Given the description of an element on the screen output the (x, y) to click on. 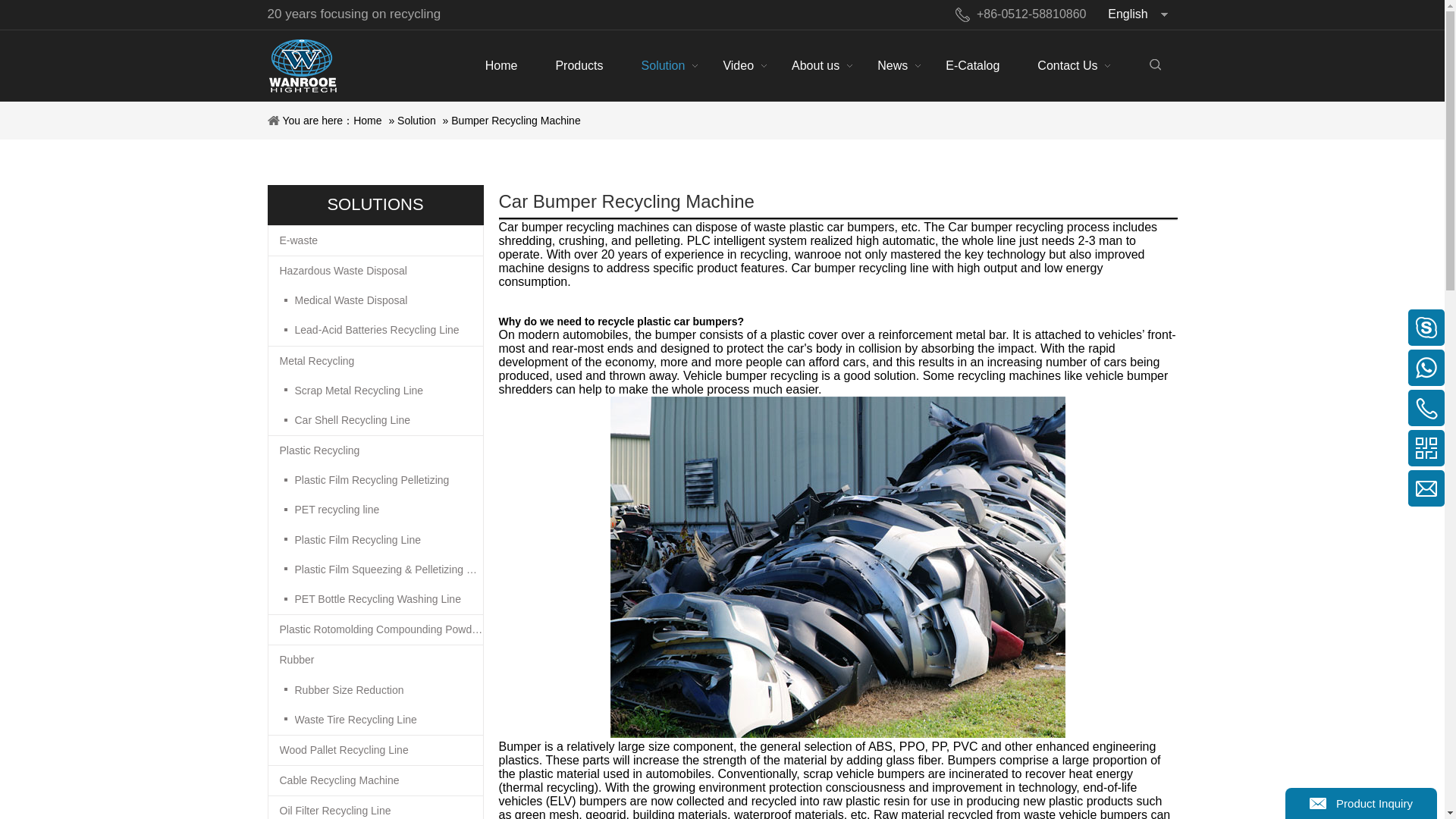
Products (578, 65)
English (1138, 14)
Home (501, 65)
Solution (663, 65)
